Given the description of an element on the screen output the (x, y) to click on. 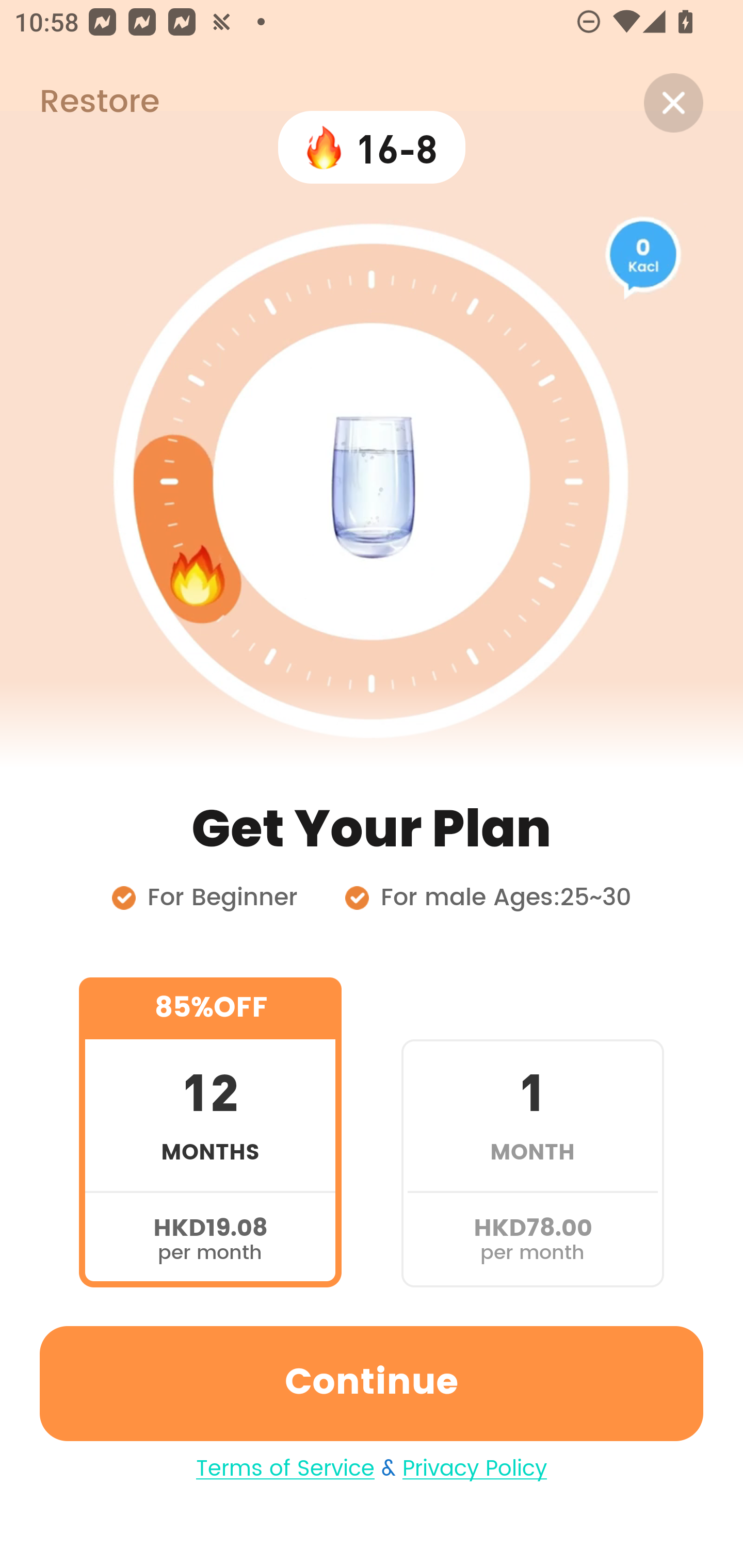
Restore (79, 102)
85%OFF 12 MONTHS per month HKD19.08 (209, 1131)
1 MONTH per month HKD78.00 (532, 1131)
Continue (371, 1383)
